Given the description of an element on the screen output the (x, y) to click on. 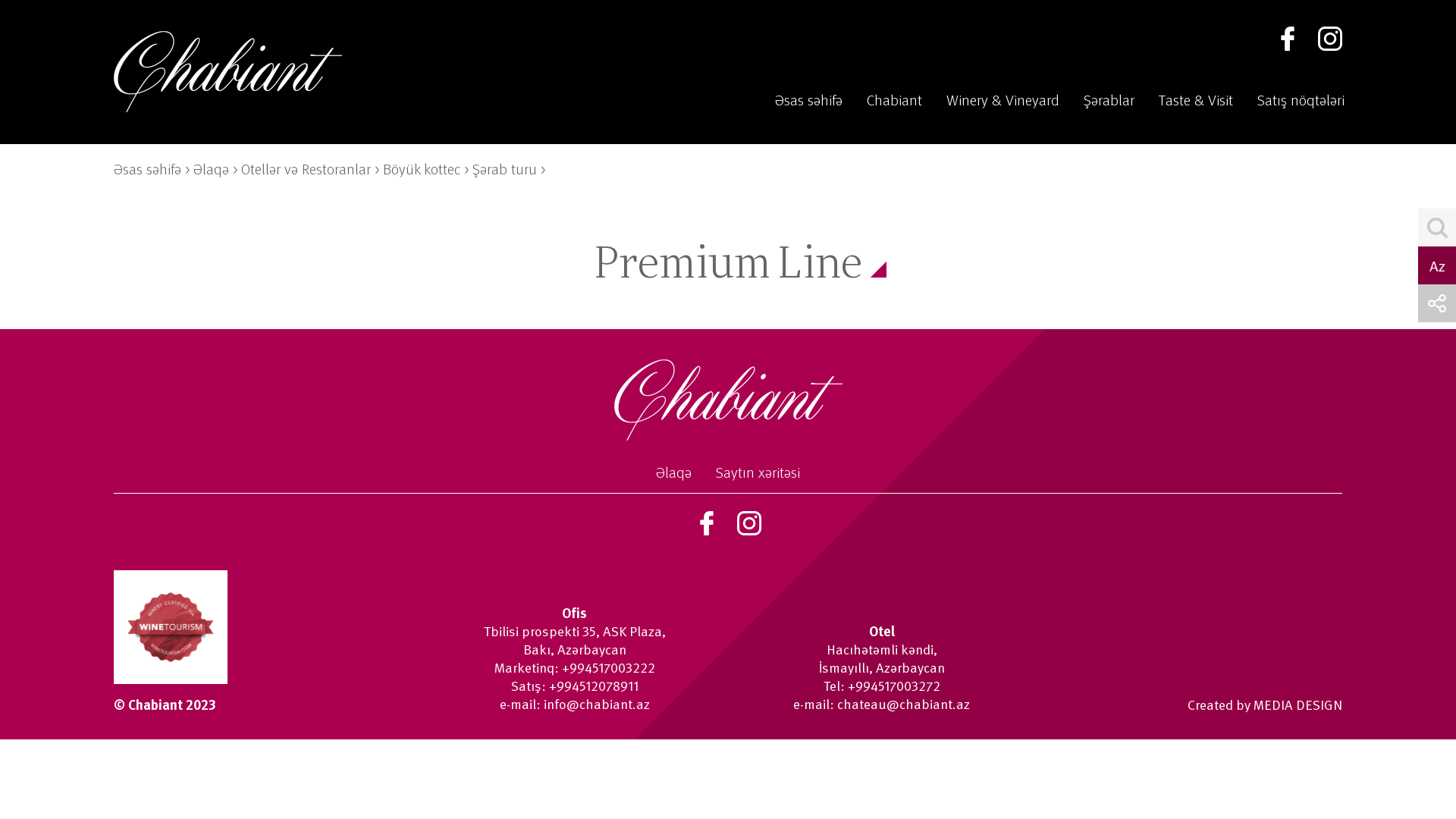
Wine Experiences from around the world | Winetourism.com Element type: hover (170, 627)
Winery & Vineyard Element type: text (1002, 99)
Taste & Visit Element type: text (1195, 99)
+994512078911 Element type: text (593, 684)
info@chabiant.az Element type: text (595, 703)
Created by MEDIA DESIGN Element type: text (1188, 704)
Chabiant Element type: text (894, 99)
+994517003272 Element type: text (893, 684)
Chabiant Element type: hover (227, 71)
chateau@chabiant.az Element type: text (903, 703)
+994517003222 Element type: text (607, 666)
